Given the description of an element on the screen output the (x, y) to click on. 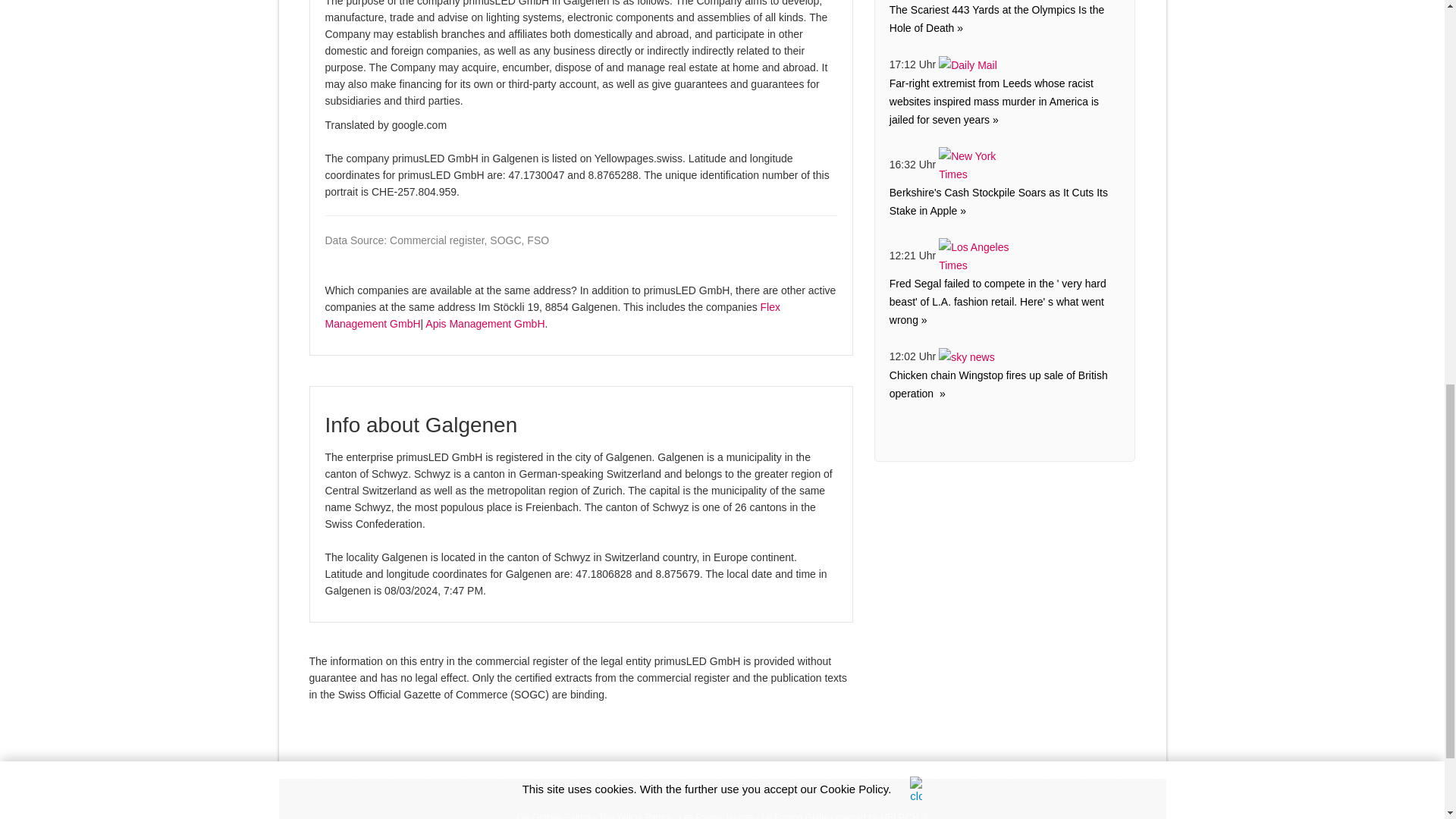
Flex Management GmbH (552, 315)
Apis Management GmbH (484, 323)
